Given the description of an element on the screen output the (x, y) to click on. 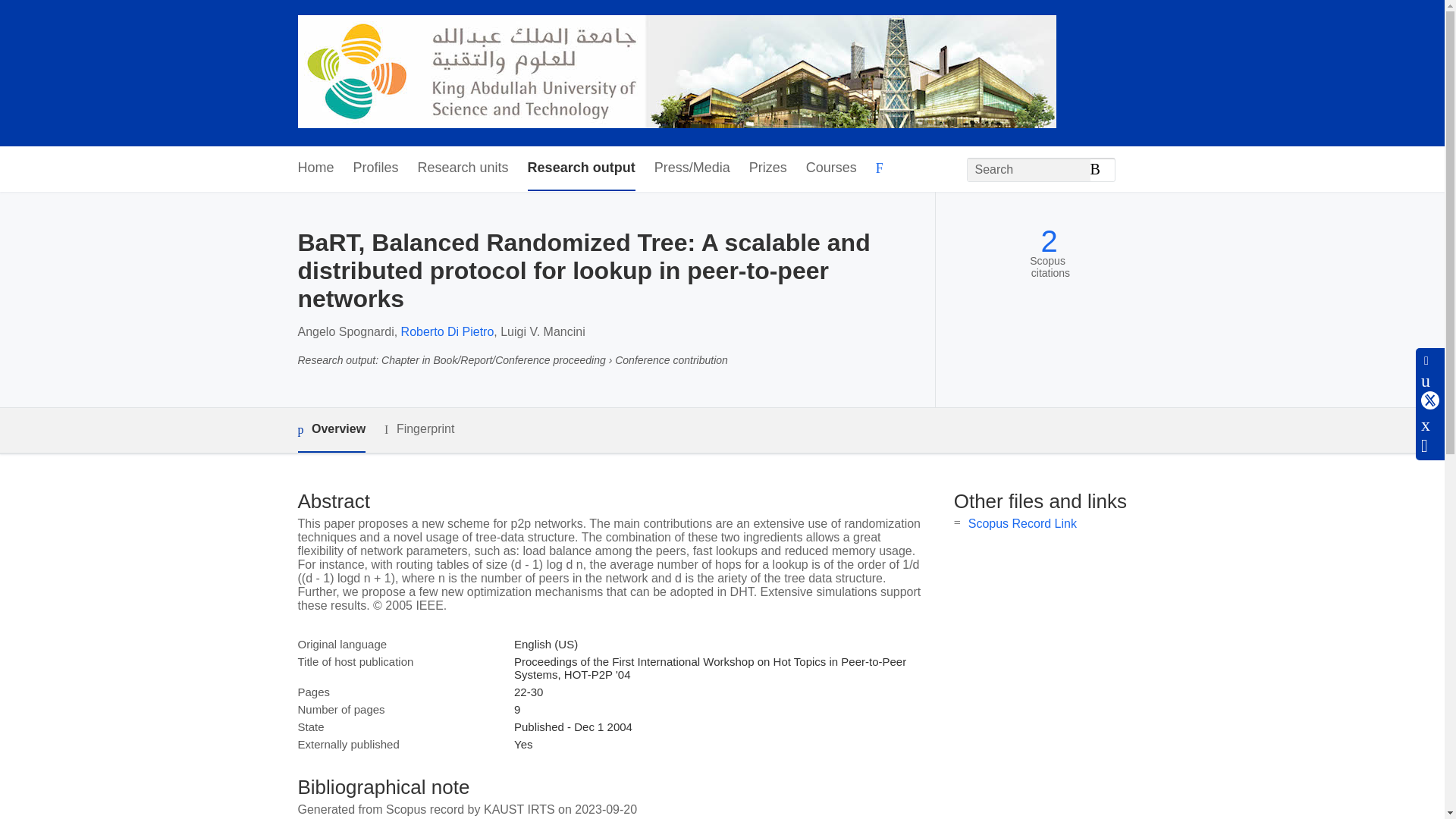
Scopus Record Link (1022, 522)
Research units (462, 168)
2 (1049, 241)
Profiles (375, 168)
Home (315, 168)
Overview (331, 429)
Fingerprint (419, 429)
KAUST PORTAL FOR RESEARCHERS AND STUDENTS Home (676, 73)
Courses (831, 168)
Research output (580, 168)
Prizes (768, 168)
Roberto Di Pietro (448, 331)
